Given the description of an element on the screen output the (x, y) to click on. 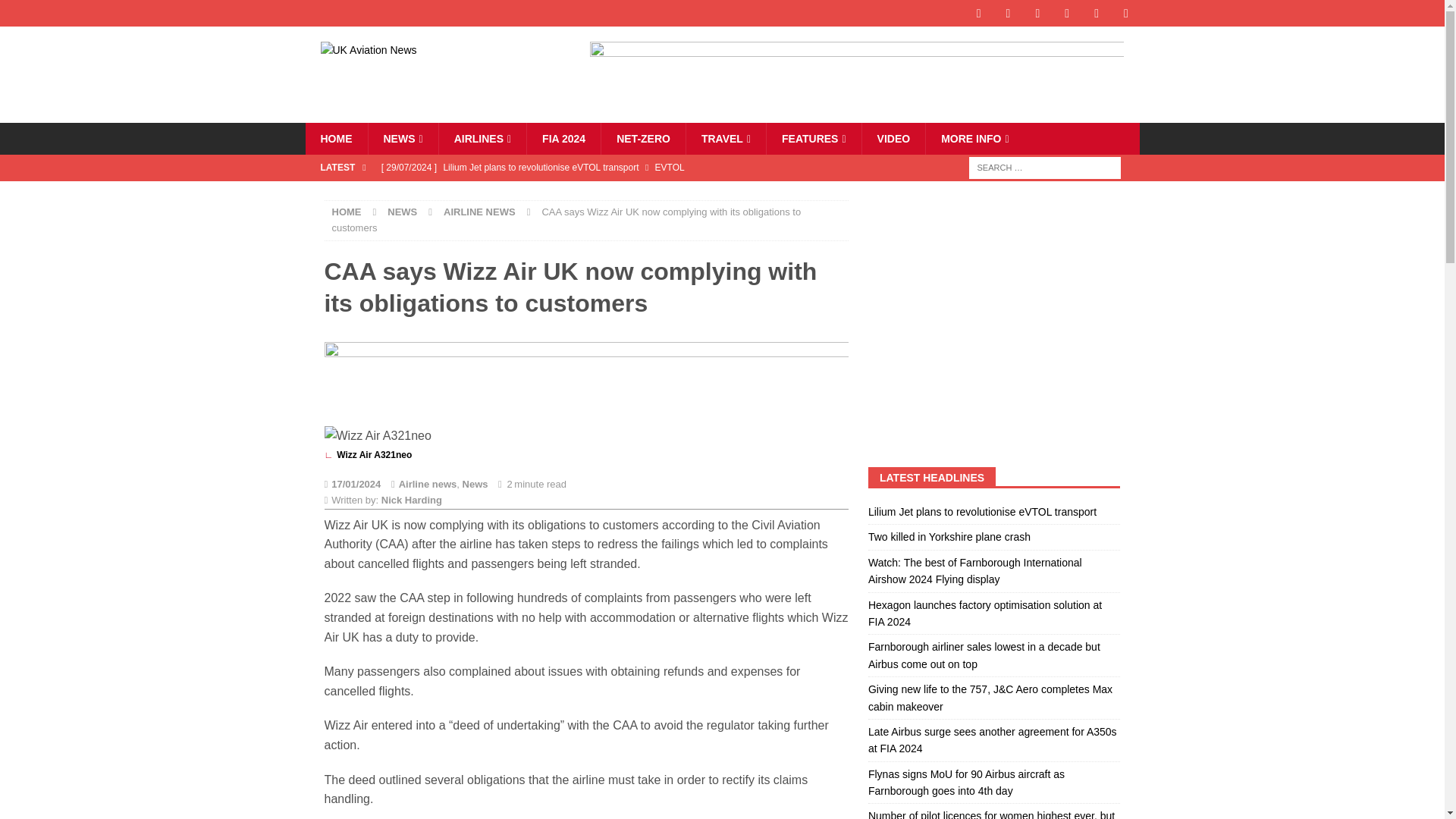
FIA 2024 (562, 138)
Instagram (1038, 13)
UK Aviation News on Youtube (1096, 13)
UK Airline, Airport and Aviation News (402, 138)
Aviation Wales (335, 138)
NET-ZERO (642, 138)
AIRLINES (481, 138)
UK Aviation News Twitter (1008, 13)
HOME (335, 138)
UK Aviation News on Facebook (978, 13)
TRAVEL (725, 138)
UK Aviation News RSS Feed (1126, 13)
NEWS (402, 138)
